Given the description of an element on the screen output the (x, y) to click on. 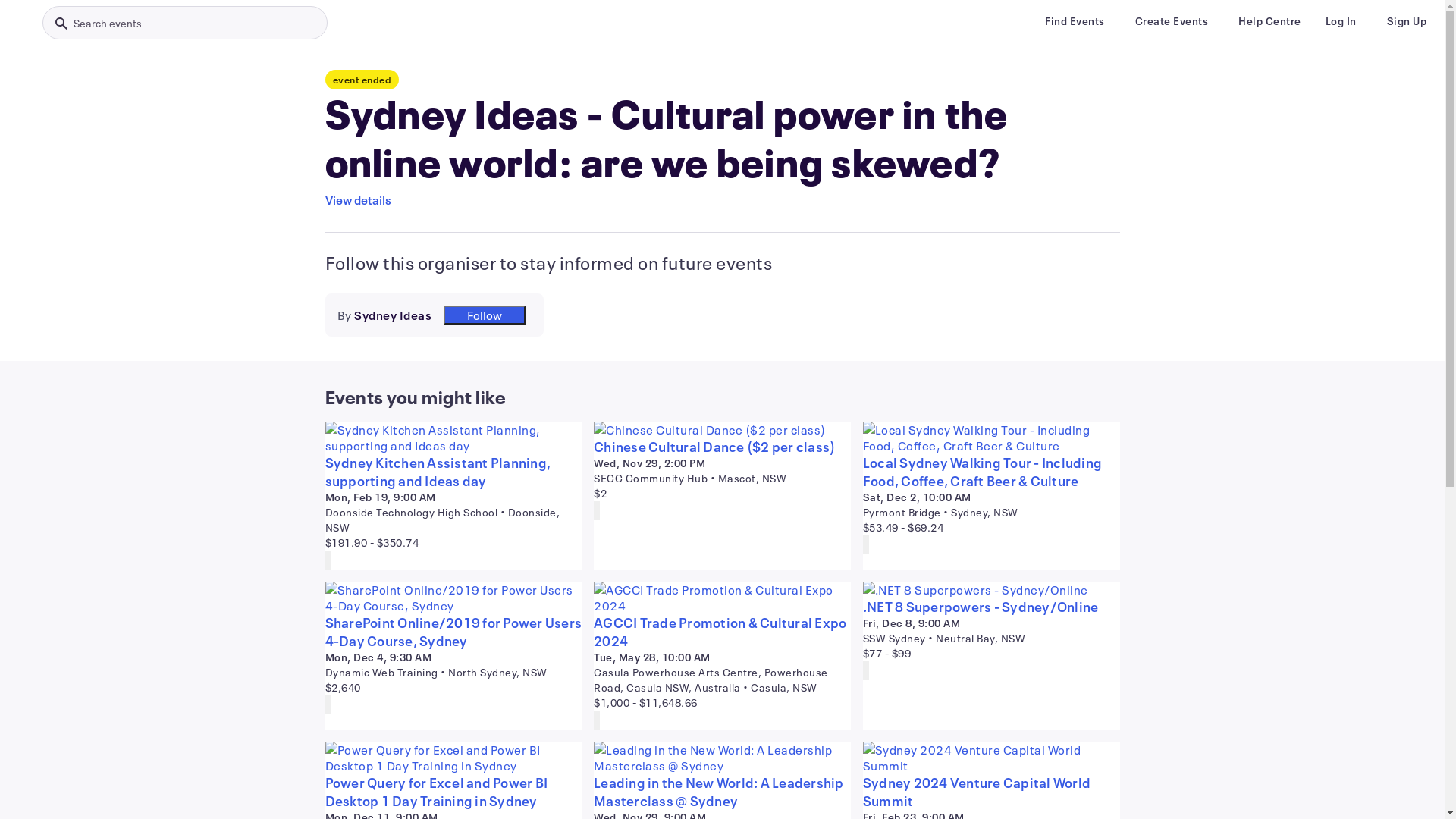
Log In Element type: text (1340, 21)
Follow Element type: text (484, 314)
View details Element type: text (357, 199)
Chinese Cultural Dance ($2 per class) Element type: text (721, 446)
.NET 8 Superpowers - Sydney/Online Element type: text (991, 606)
Sydney Kitchen Assistant Planning, supporting and Ideas day Element type: text (452, 471)
Sydney 2024 Venture Capital World Summit Element type: text (991, 791)
Leading in the New World: A Leadership Masterclass @ Sydney Element type: text (721, 791)
Find Events Element type: text (1074, 21)
SharePoint Online/2019 for Power Users 4-Day Course, Sydney Element type: text (452, 631)
AGCCI Trade Promotion & Cultural Expo 2024 Element type: text (721, 631)
Sign Up Element type: text (1406, 21)
Search events Element type: text (184, 22)
Create Events Element type: text (1171, 21)
